Given the description of an element on the screen output the (x, y) to click on. 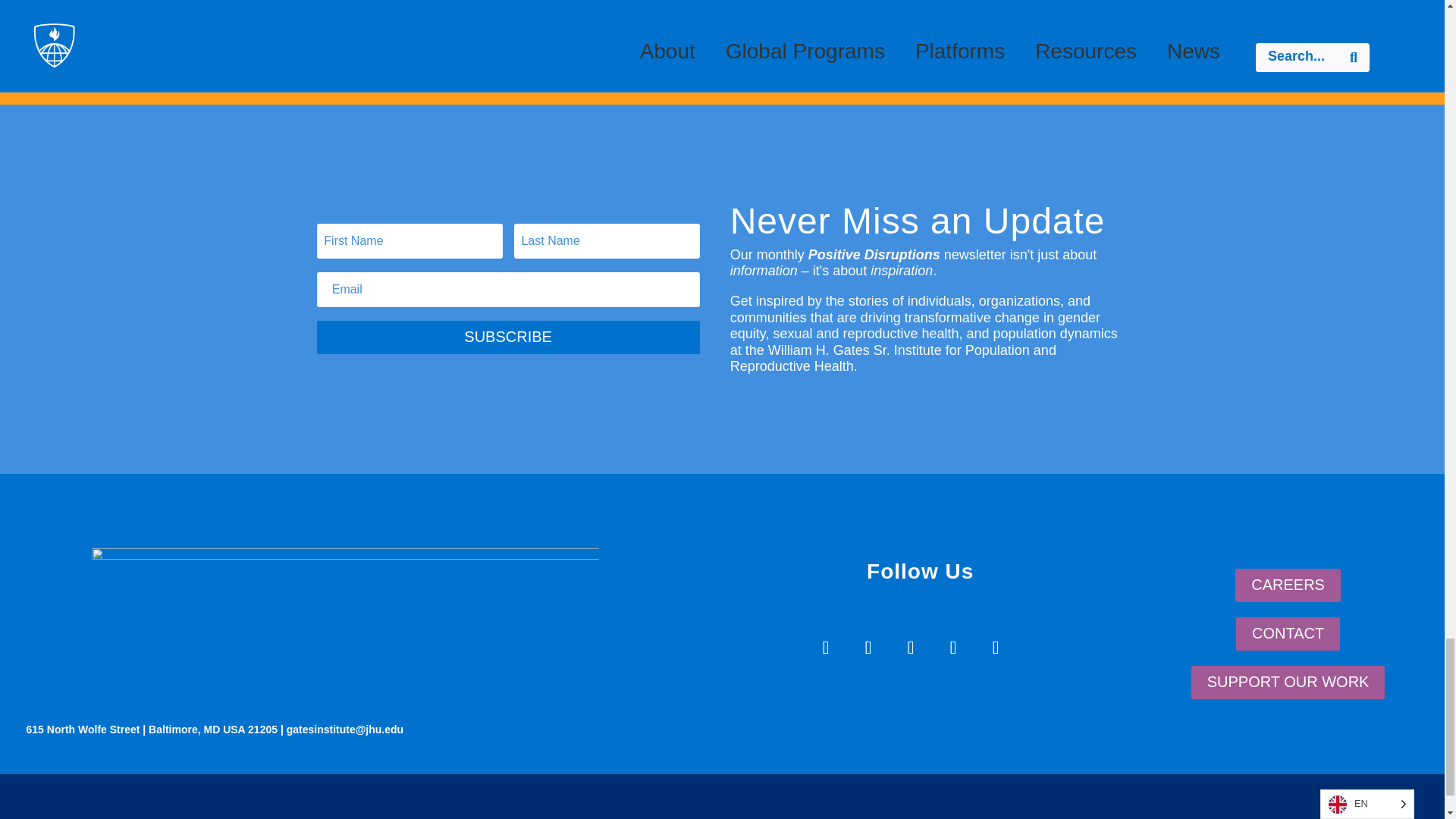
Follow on Youtube (952, 647)
Follow on Facebook (826, 647)
gates-sr-pfrh-dpt-horizontal-white (429, 617)
Follow on RSS (994, 647)
Follow on X (868, 647)
Follow on Instagram (910, 647)
